Given the description of an element on the screen output the (x, y) to click on. 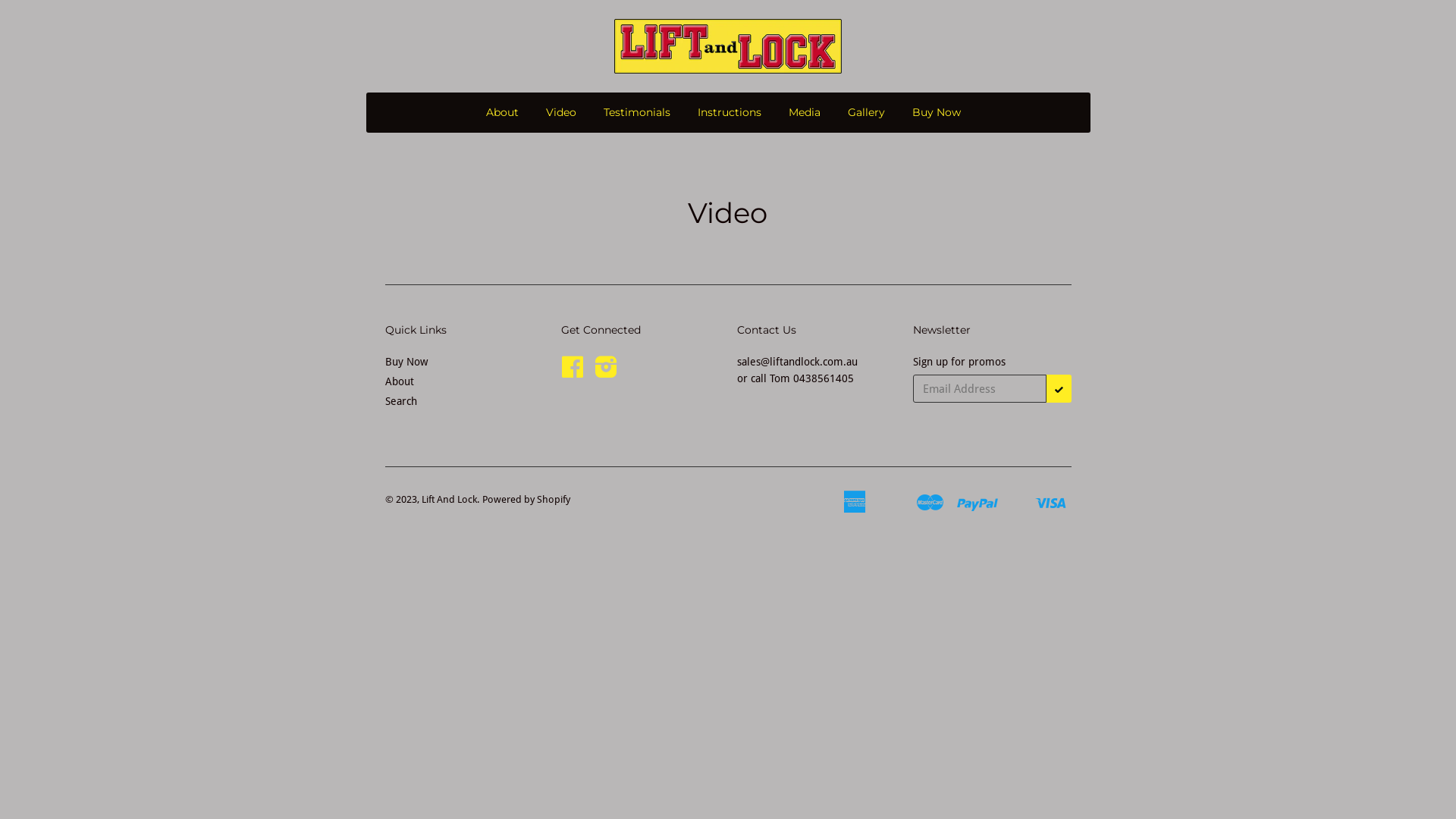
Gallery Element type: text (866, 112)
Instagram Element type: text (606, 372)
Buy Now Element type: text (406, 361)
About Element type: text (501, 112)
Powered by Shopify Element type: text (526, 499)
About Element type: text (399, 381)
Facebook Element type: text (572, 372)
Search Element type: text (401, 401)
Subscribe Element type: text (1058, 388)
Media Element type: text (804, 112)
Buy Now Element type: text (936, 112)
Instructions Element type: text (729, 112)
Video Element type: text (560, 112)
Testimonials Element type: text (636, 112)
